Given the description of an element on the screen output the (x, y) to click on. 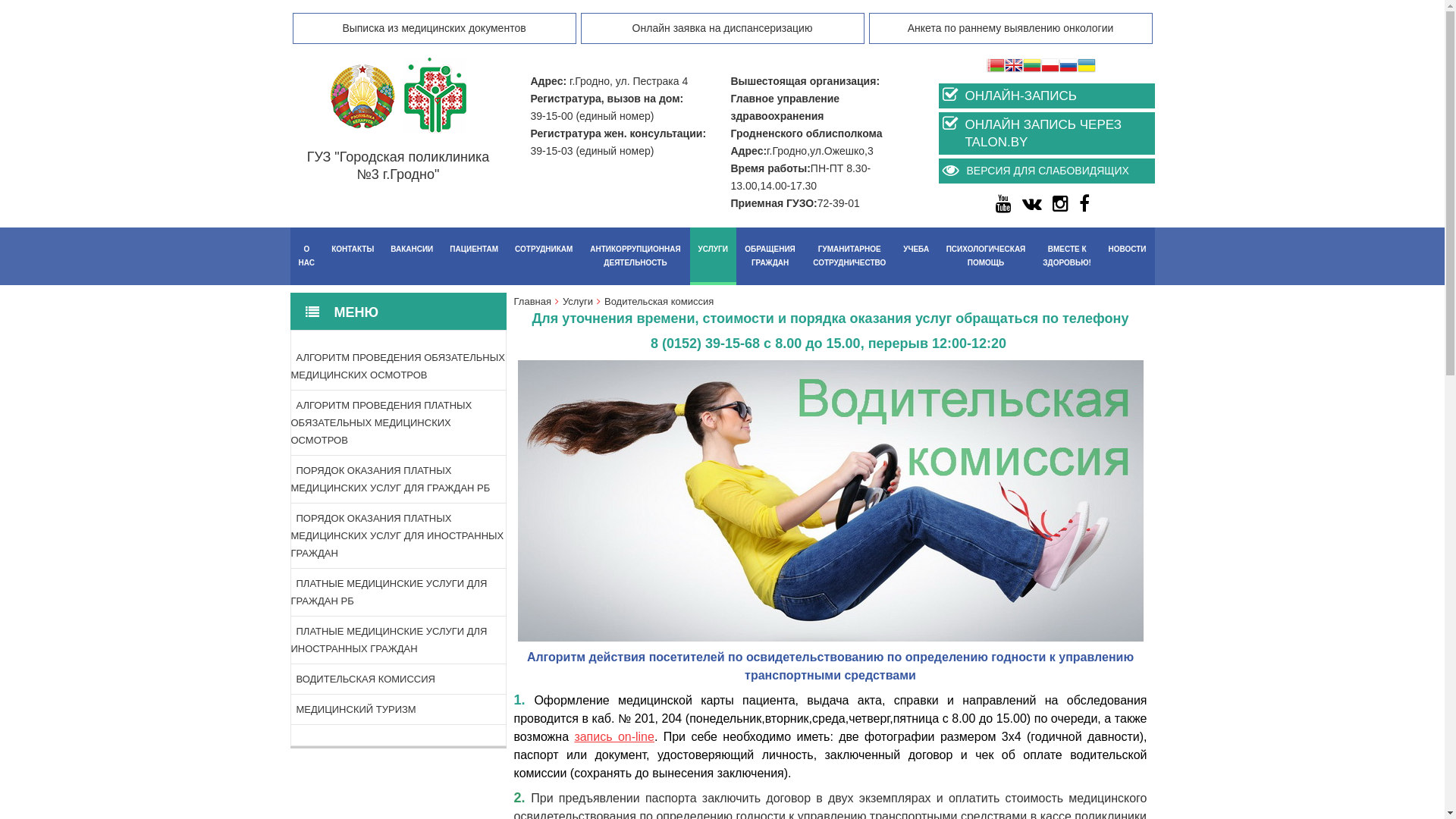
Polish Element type: hover (1049, 67)
Belarusian Element type: hover (994, 67)
English Element type: hover (1013, 67)
Ukrainian Element type: hover (1085, 67)
Russian Element type: hover (1067, 67)
Lithuanian Element type: hover (1031, 67)
